Given the description of an element on the screen output the (x, y) to click on. 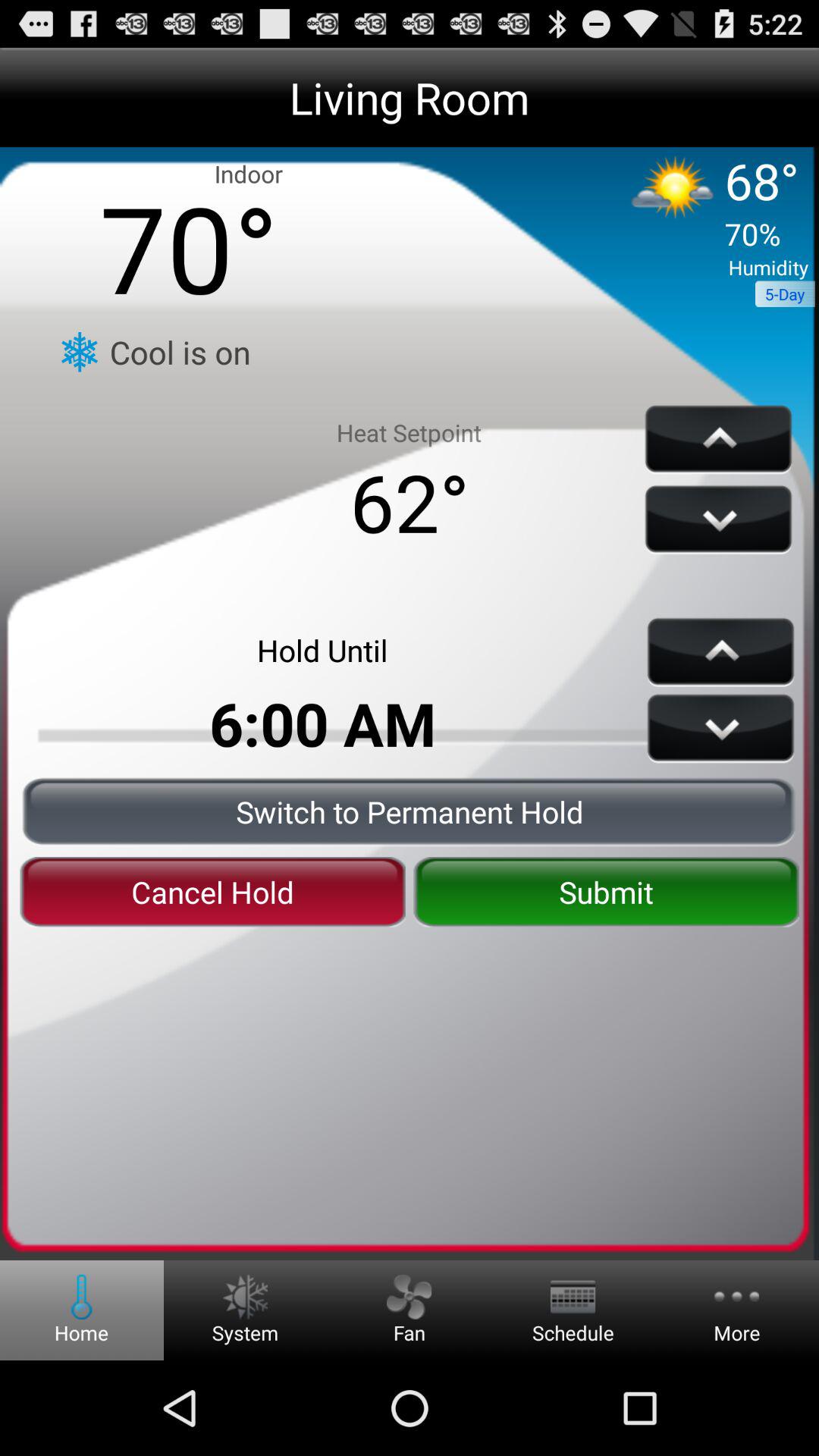
press the icon on the left (212, 892)
